Given the description of an element on the screen output the (x, y) to click on. 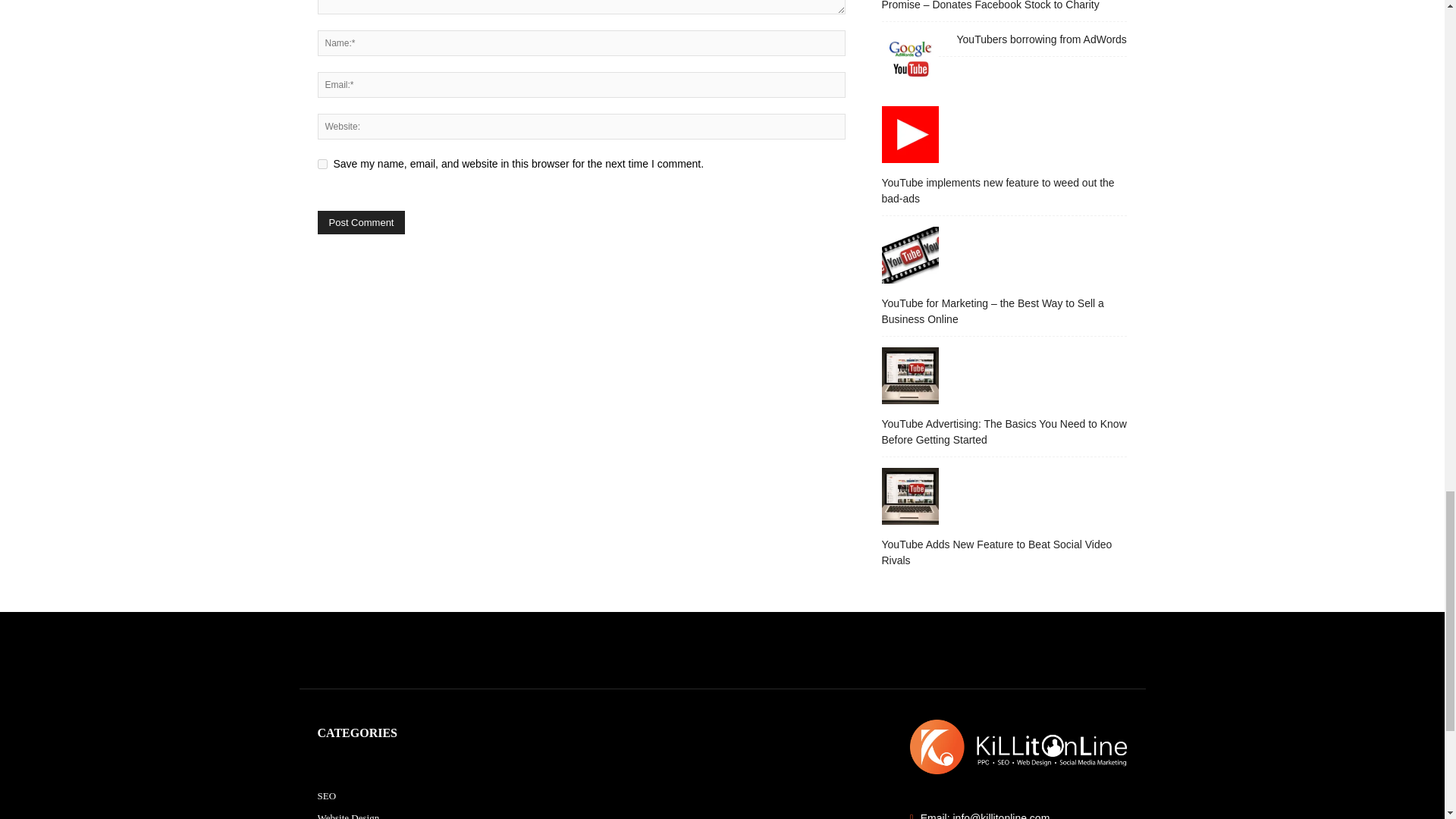
Post Comment (360, 222)
yes (321, 163)
